Given the description of an element on the screen output the (x, y) to click on. 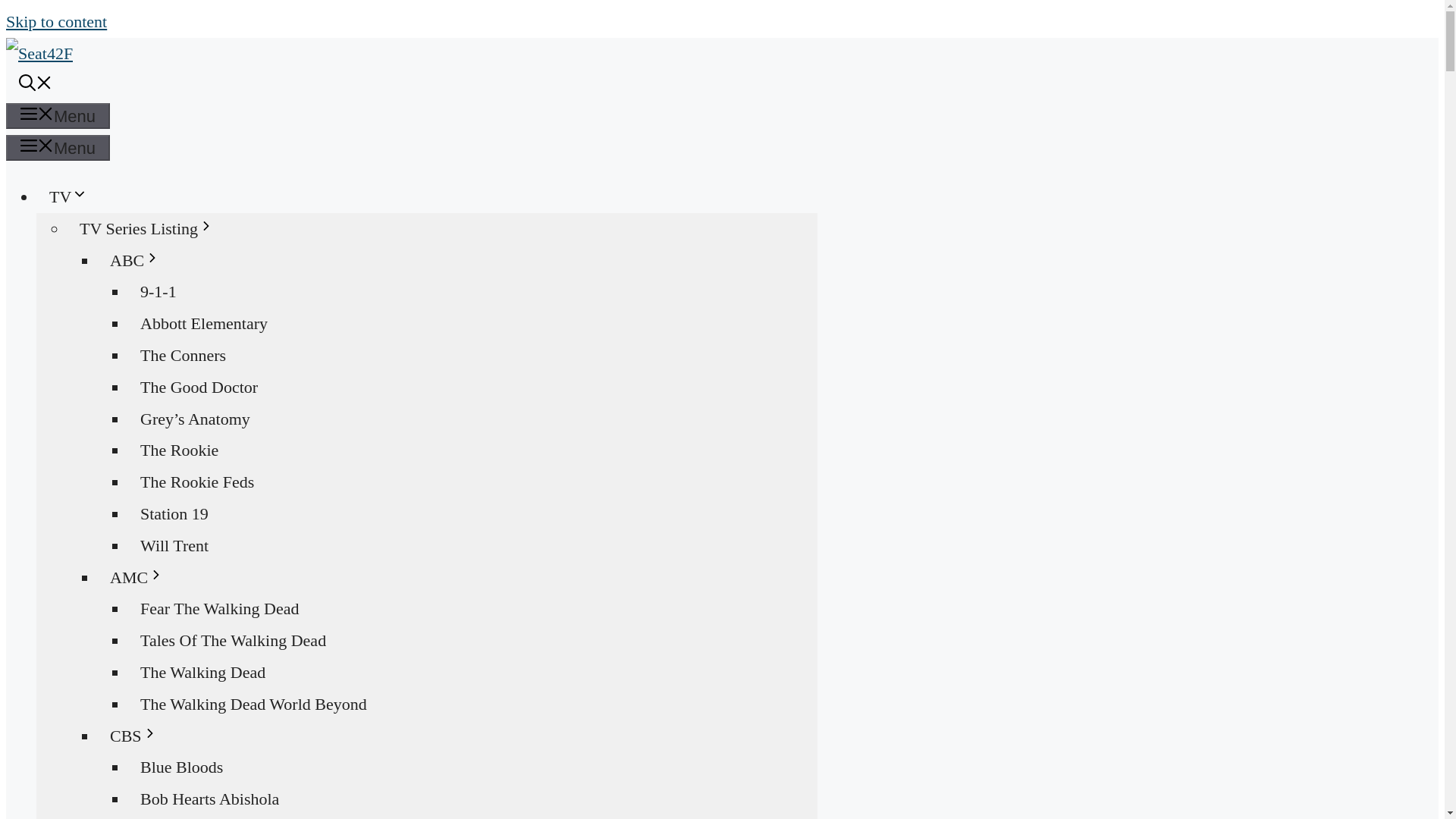
CBS (140, 735)
TV Series Listing (153, 228)
Menu (57, 115)
Skip to content (55, 21)
9-1-1 (158, 291)
The Conners (183, 355)
Menu (57, 147)
The Rookie (179, 449)
Bob Hearts Abishola (210, 798)
The Good Doctor (199, 387)
